Given the description of an element on the screen output the (x, y) to click on. 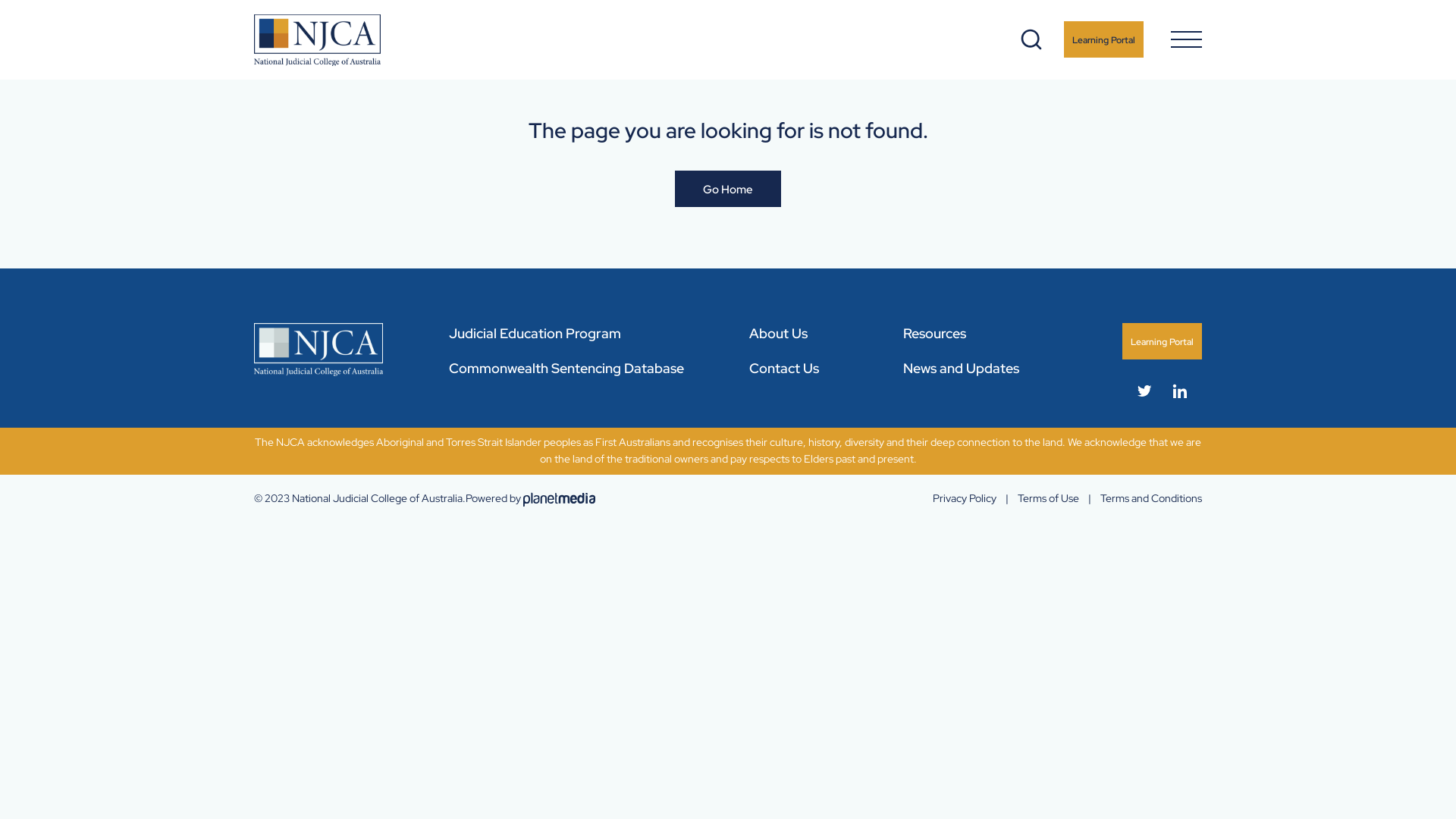
Resources Element type: text (934, 333)
Judicial Education Program Element type: text (534, 333)
Privacy Policy Element type: text (964, 498)
Contact Us Element type: text (784, 367)
About Us Element type: text (778, 333)
Terms and Conditions Element type: text (1150, 498)
Learning Portal Element type: text (1161, 341)
Go Home Element type: text (727, 188)
Commonwealth Sentencing Database Element type: text (566, 367)
News and Updates Element type: text (961, 367)
Terms of Use Element type: text (1048, 498)
Menu Button Element type: text (1185, 39)
Learning Portal Element type: text (1103, 39)
